Given the description of an element on the screen output the (x, y) to click on. 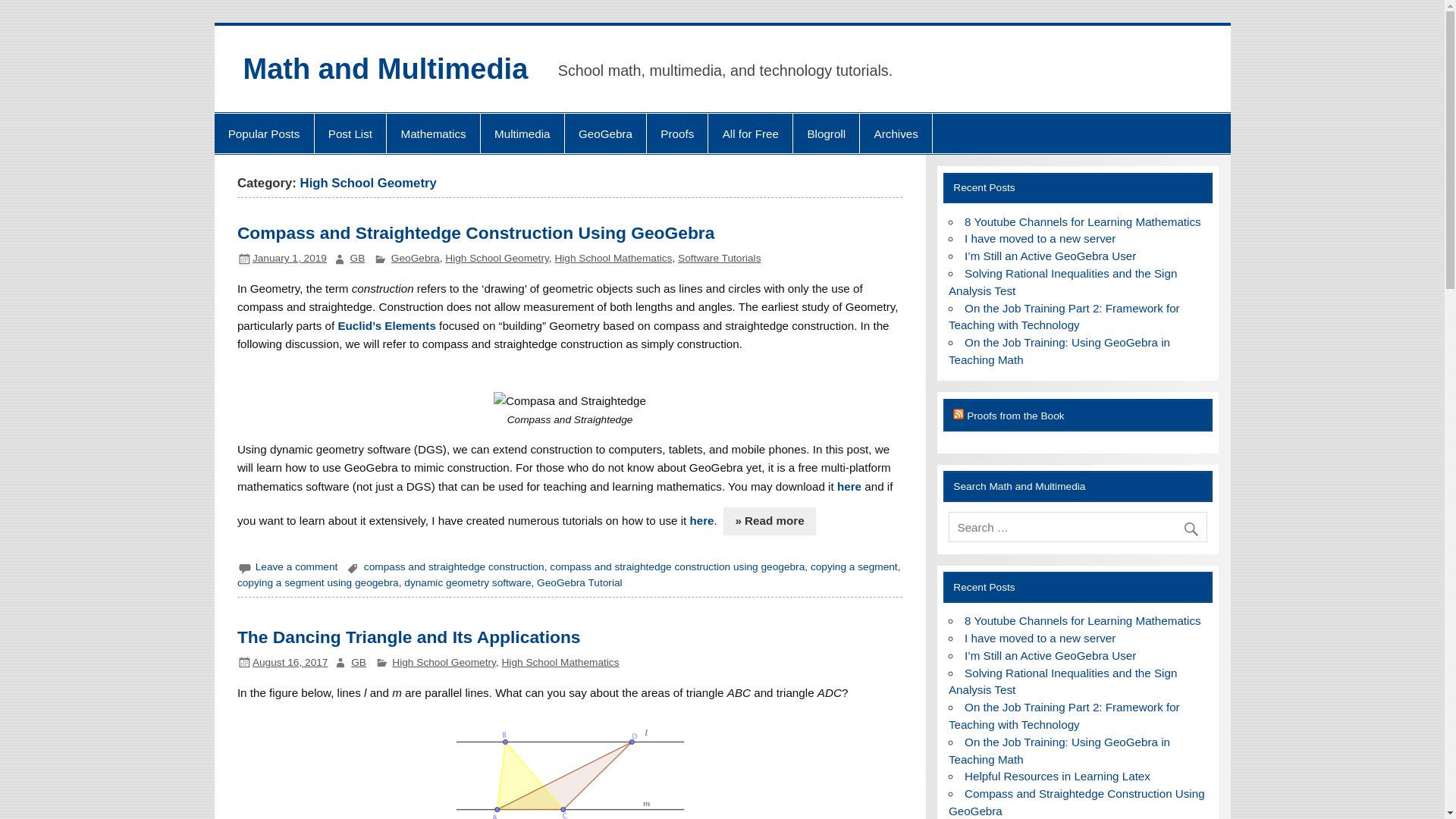
here (849, 486)
Mathematics (433, 133)
Post List (350, 133)
GB (358, 662)
High School Geometry (443, 662)
GeoGebra (415, 257)
Blogroll (826, 133)
Archives (895, 133)
compass and straightedge construction (454, 566)
dynamic geometry software (467, 582)
View all posts by GB (358, 662)
Leave a comment (296, 566)
Multimedia (522, 133)
GB (357, 257)
August 16, 2017 (290, 662)
